Given the description of an element on the screen output the (x, y) to click on. 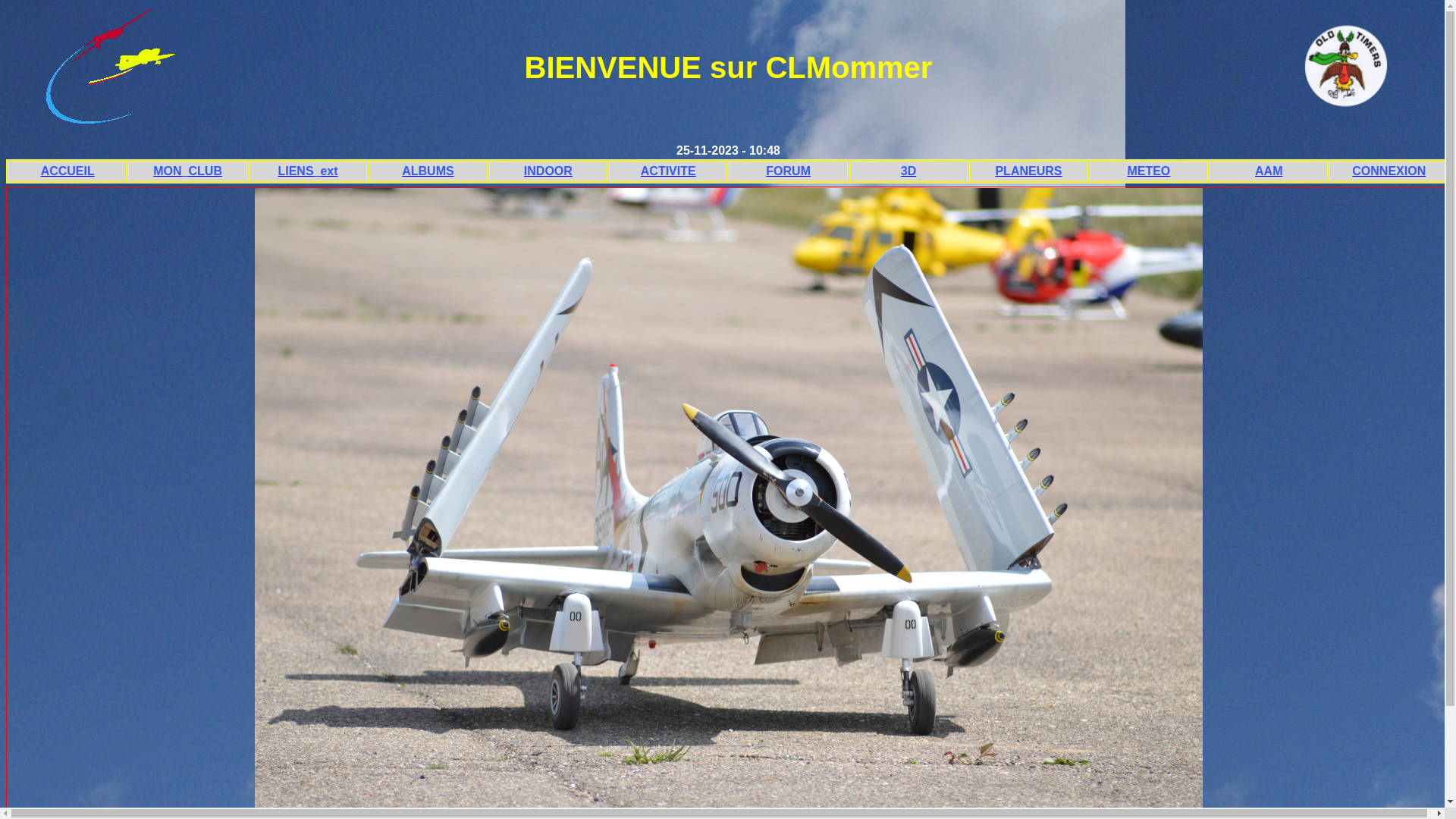
MON_CLUB Element type: text (186, 171)
INDOOR Element type: text (547, 171)
PLANEURS Element type: text (1027, 171)
LIENS_ext Element type: text (307, 171)
CONNEXION Element type: text (1388, 171)
ACTIVITE Element type: text (667, 171)
METEO Element type: text (1148, 171)
ACCUEIL Element type: text (67, 171)
FORUM Element type: text (787, 171)
ALBUMS Element type: text (427, 171)
AAM Element type: text (1268, 171)
3D Element type: text (908, 171)
